Given the description of an element on the screen output the (x, y) to click on. 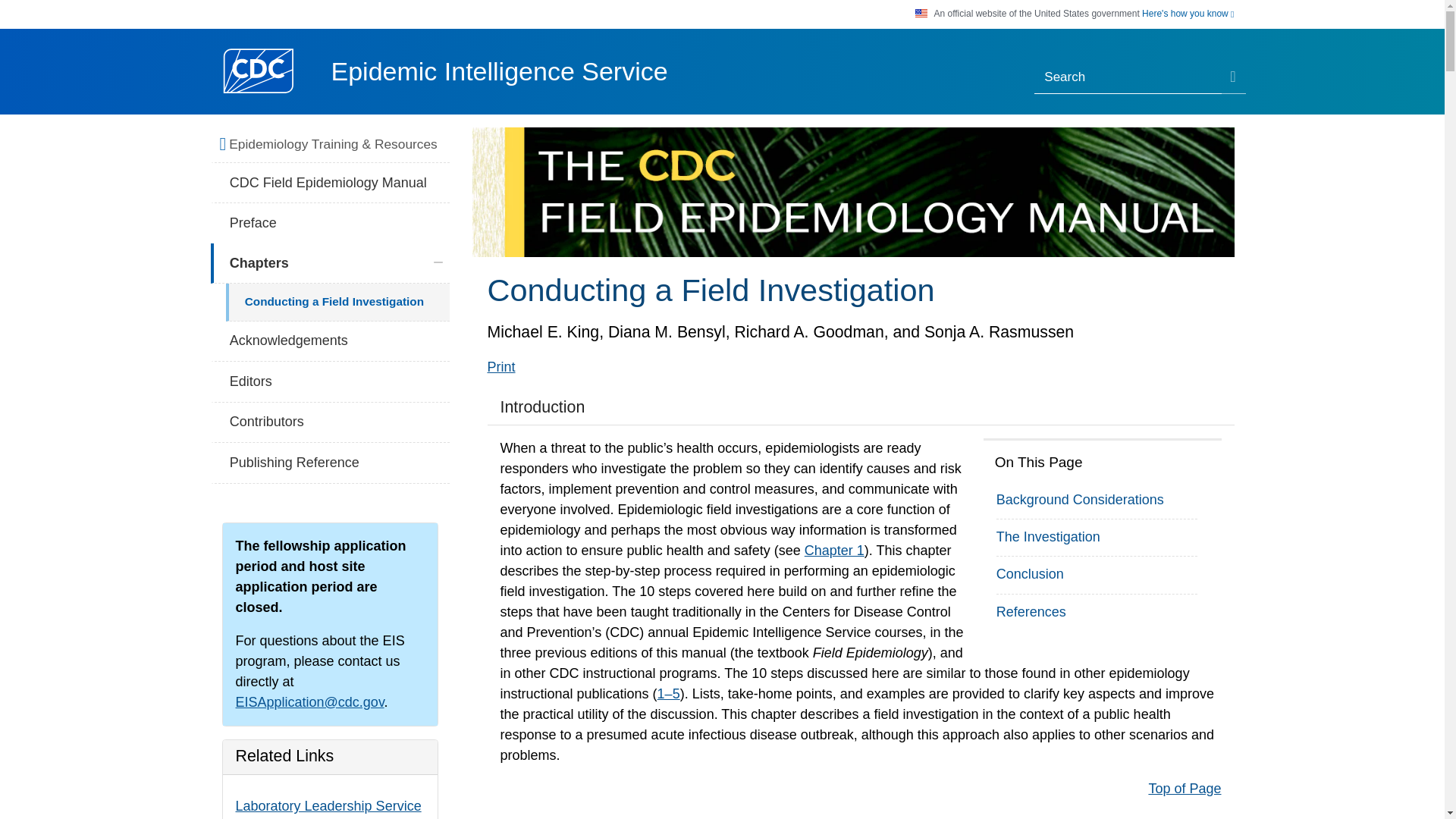
Print (500, 367)
The Investigation (1047, 536)
collapse (437, 262)
FEM (852, 192)
Here's how you know (1187, 14)
Epidemic Intelligence Service (498, 71)
Background Considerations (1079, 499)
Conclusion (1029, 573)
Chapter 1 (834, 549)
Top of Page (1184, 788)
